Given the description of an element on the screen output the (x, y) to click on. 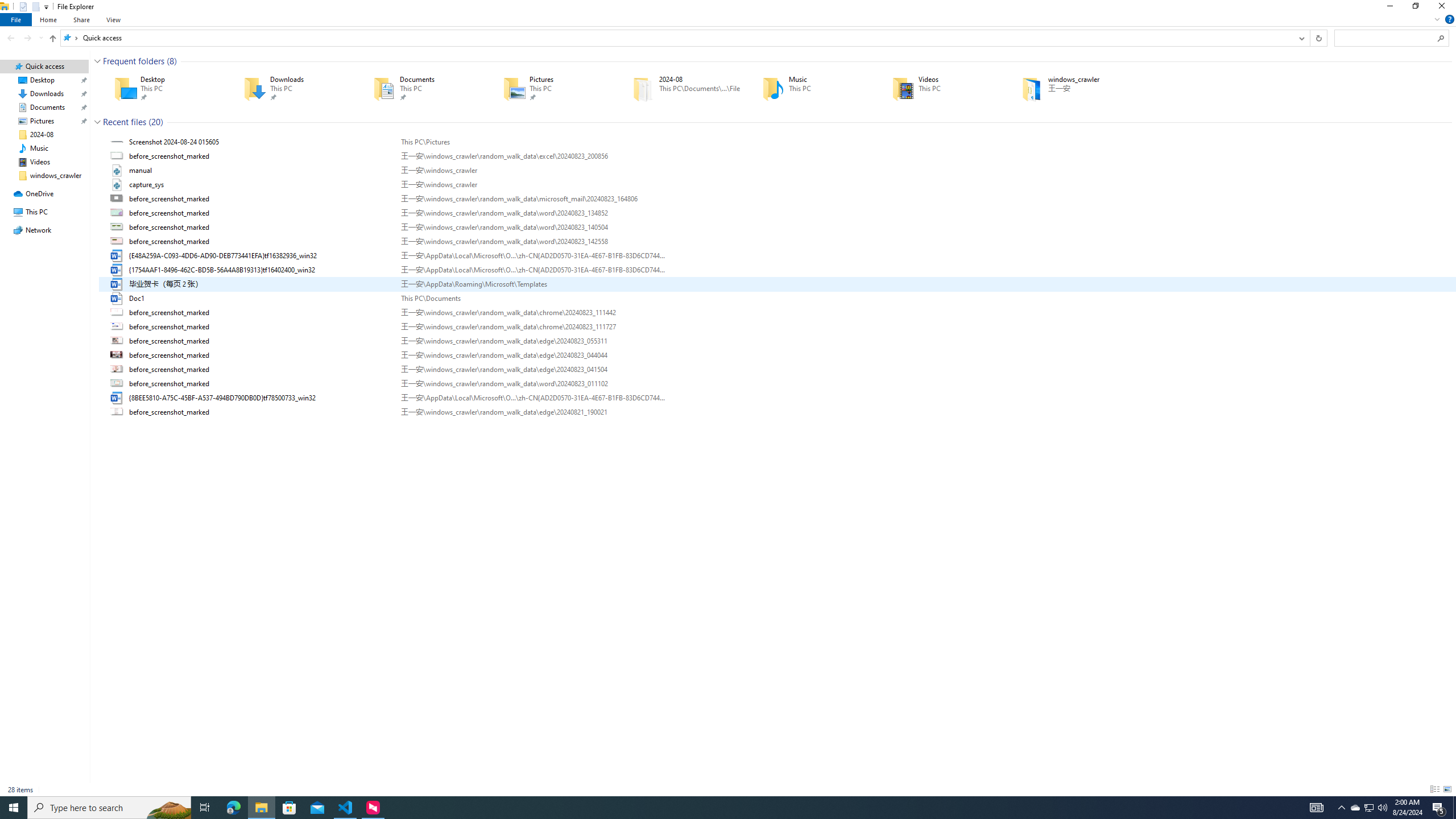
Help (1449, 19)
All locations (70, 37)
Documents (422, 88)
System (6, 6)
Doc1 (777, 298)
Home (48, 19)
Count (155, 121)
Address: Quick access (676, 37)
Customize Quick Access Toolbar (45, 6)
Name (261, 411)
Desktop (162, 88)
Minimize the Ribbon (1436, 19)
Videos (940, 88)
File tab (16, 19)
